Given the description of an element on the screen output the (x, y) to click on. 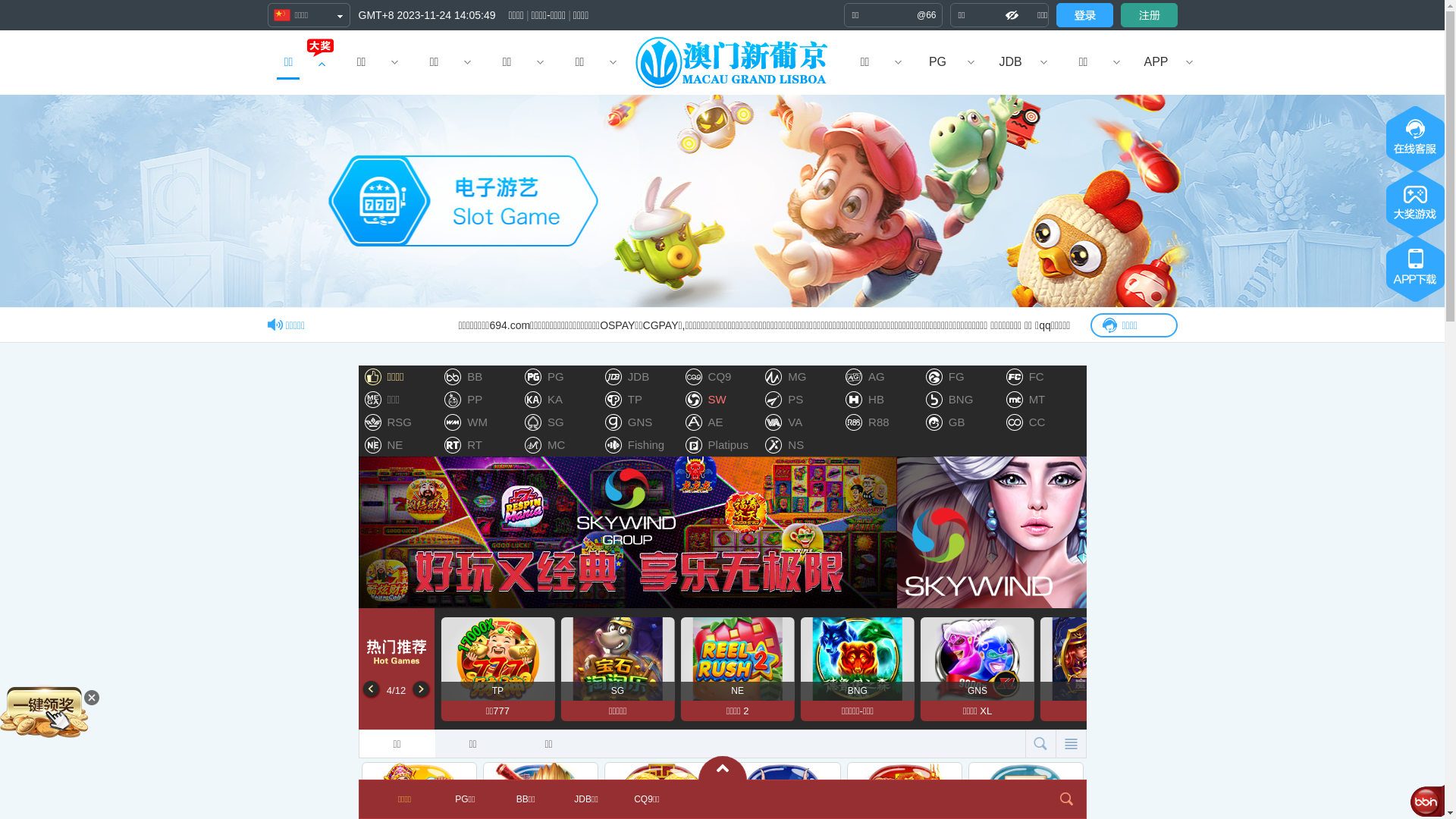
APP Element type: text (1155, 62)
PG Element type: text (936, 62)
JDB Element type: text (1009, 62)
